Given the description of an element on the screen output the (x, y) to click on. 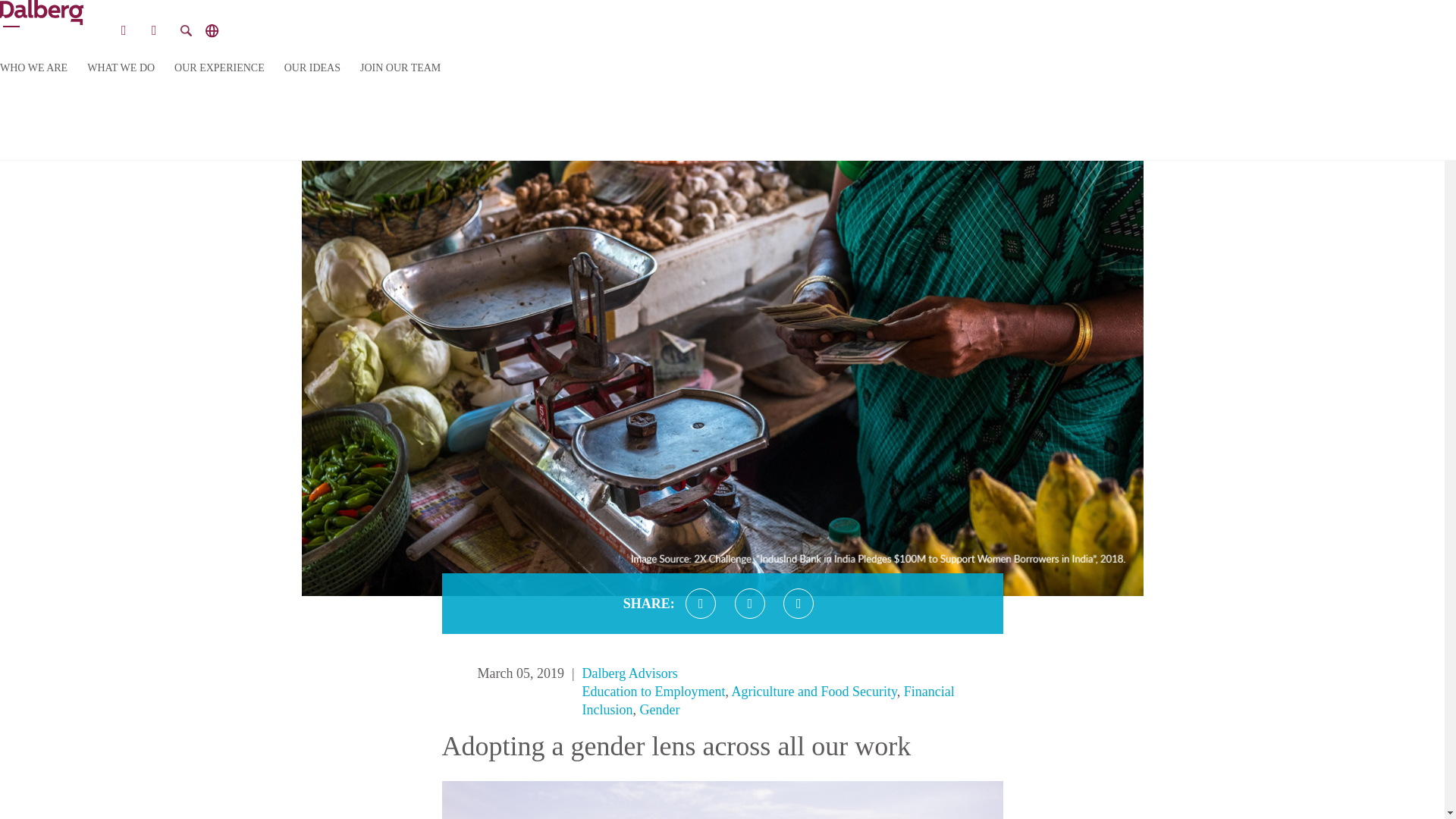
WHO WE ARE (33, 67)
OUR EXPERIENCE (219, 67)
Dalberg Advisors (630, 672)
WHAT WE DO (120, 67)
OUR IDEAS (311, 67)
JOIN OUR TEAM (400, 67)
